Given the description of an element on the screen output the (x, y) to click on. 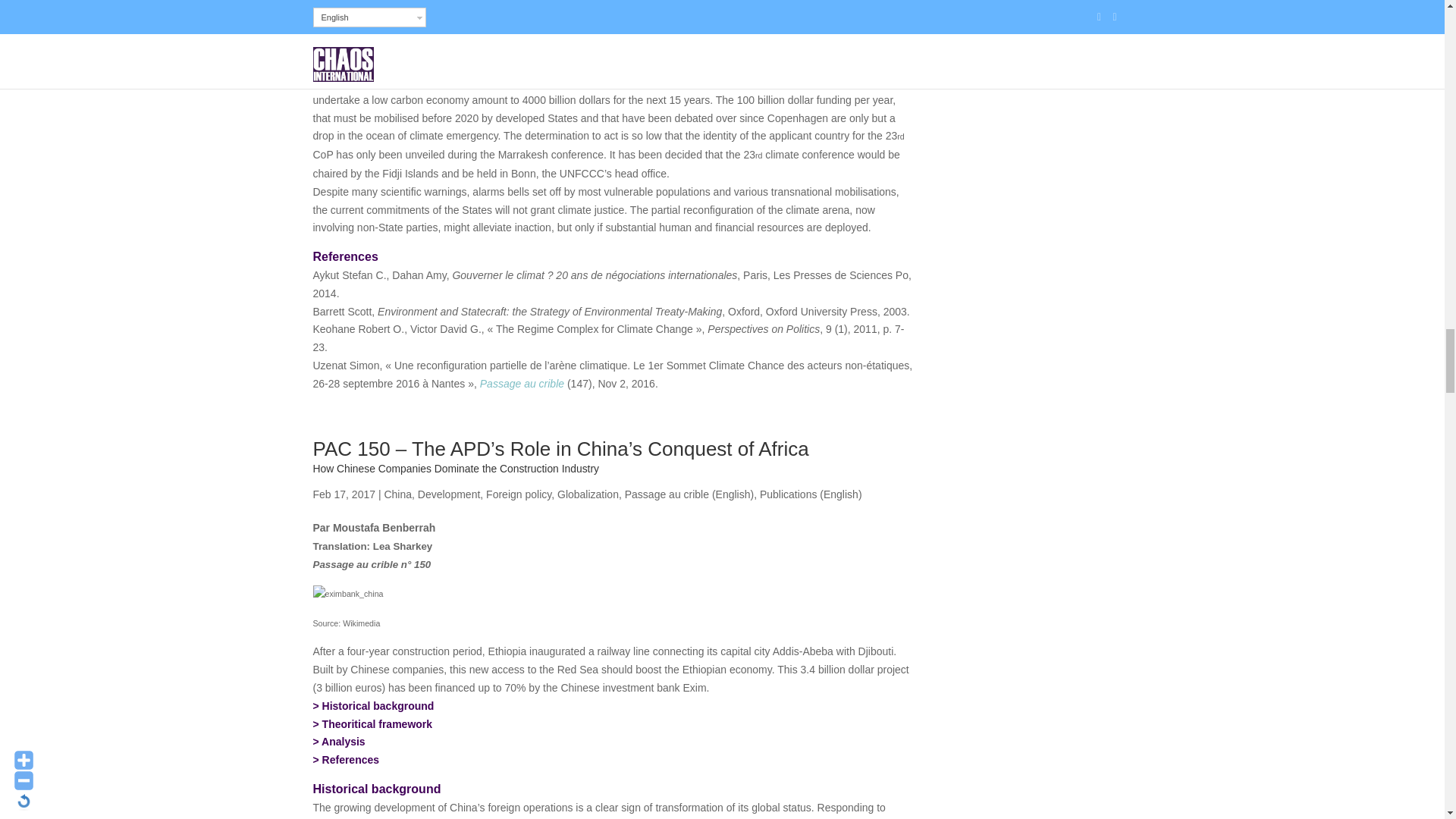
Analyse (343, 741)
Rappel (377, 705)
Cadrage (376, 724)
